Given the description of an element on the screen output the (x, y) to click on. 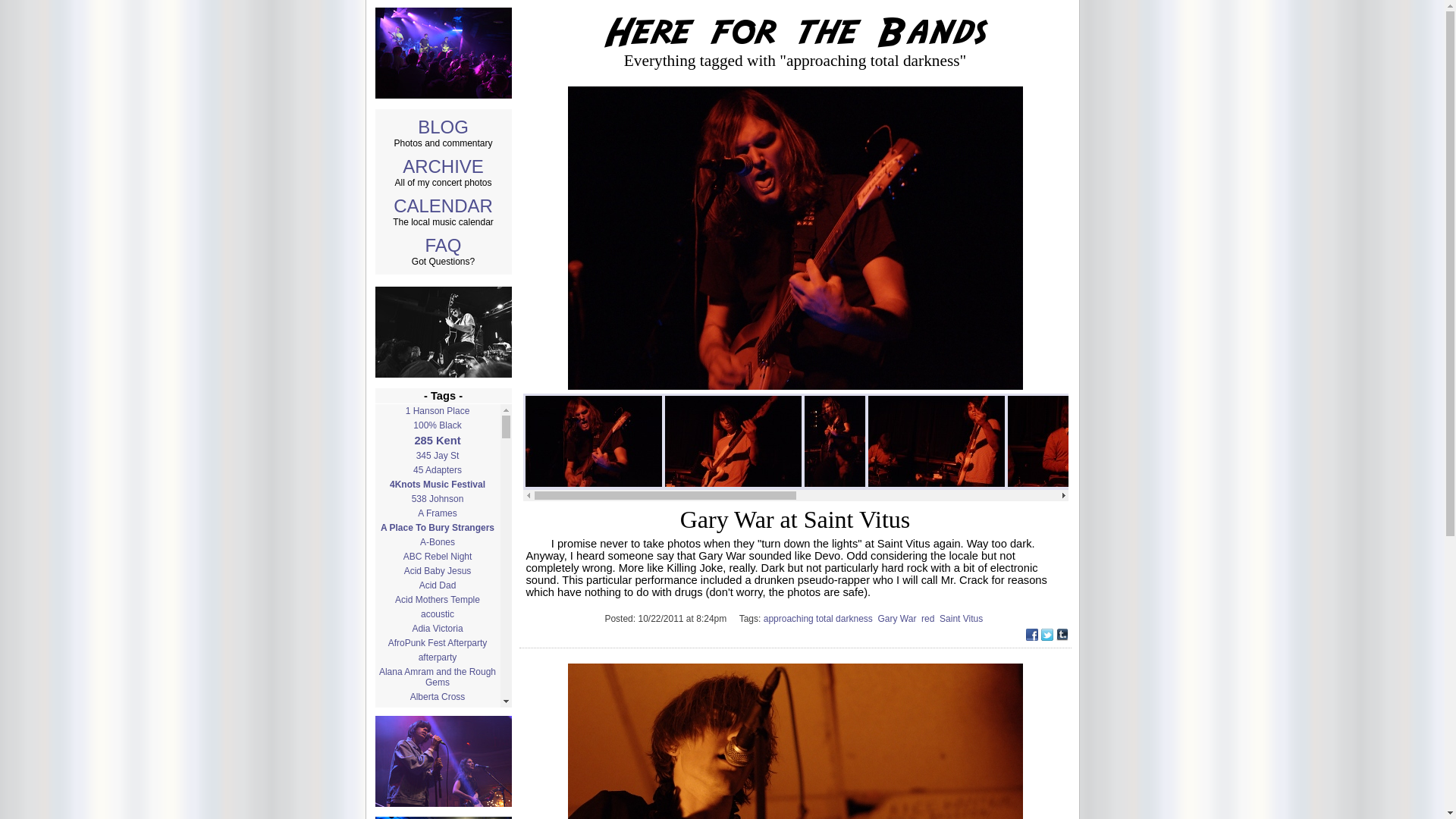
album release (436, 711)
4Knots Music Festival (436, 484)
Acid Dad (436, 585)
Share on Facebook (1030, 635)
HereForTheBands (795, 31)
345 Jay St (436, 455)
Share on Twitter (1046, 635)
Share on Tumblr (1061, 635)
Adia Victoria (436, 628)
afterparty (436, 657)
Alberta Cross (436, 696)
45 Adapters (436, 469)
Alana Amram and the Rough Gems (436, 677)
CALENDAR (443, 205)
Acid Baby Jesus (436, 571)
